Given the description of an element on the screen output the (x, y) to click on. 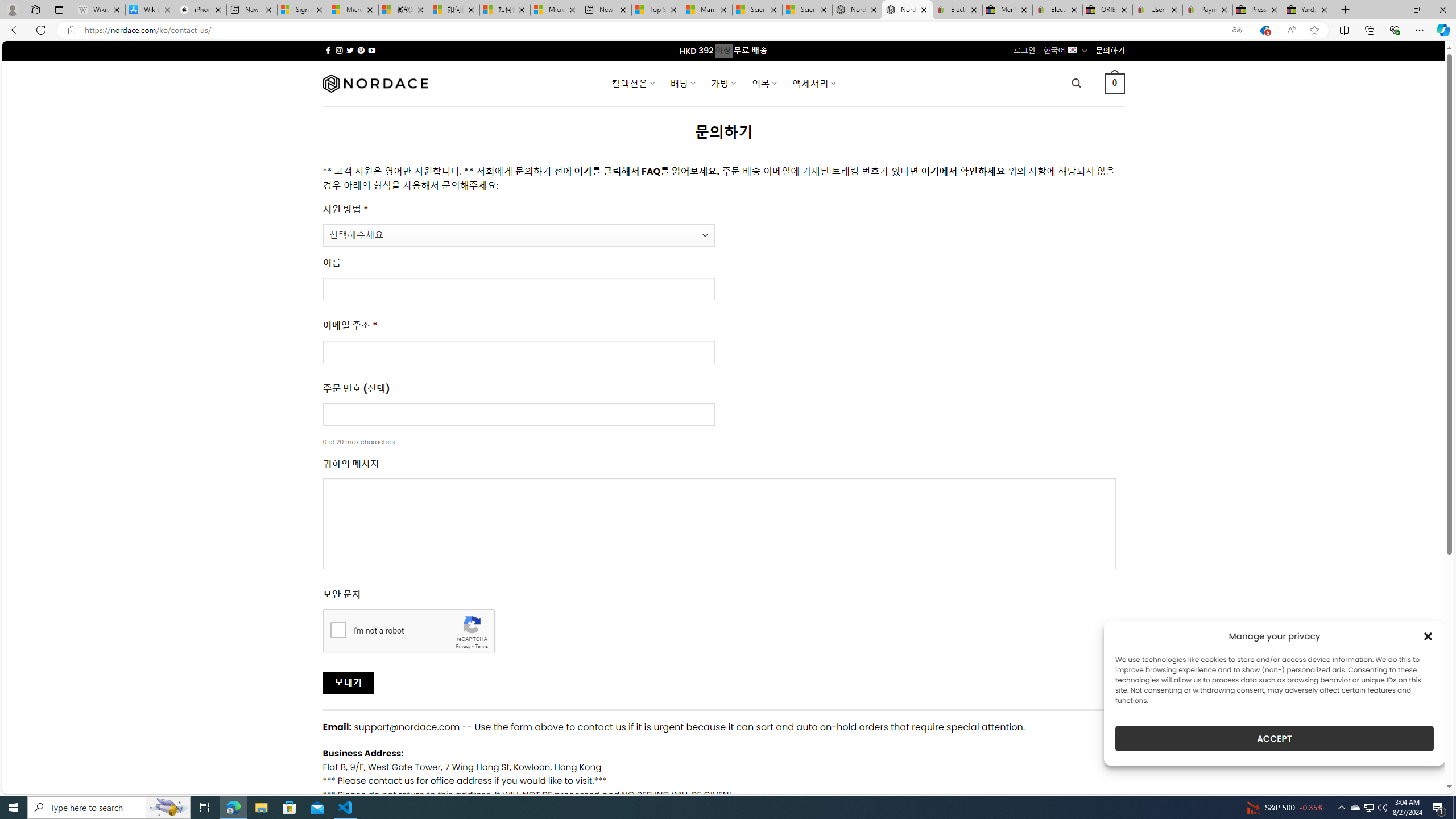
I'm not a robot (338, 629)
Follow on YouTube (371, 50)
Follow on Twitter (349, 50)
